Given the description of an element on the screen output the (x, y) to click on. 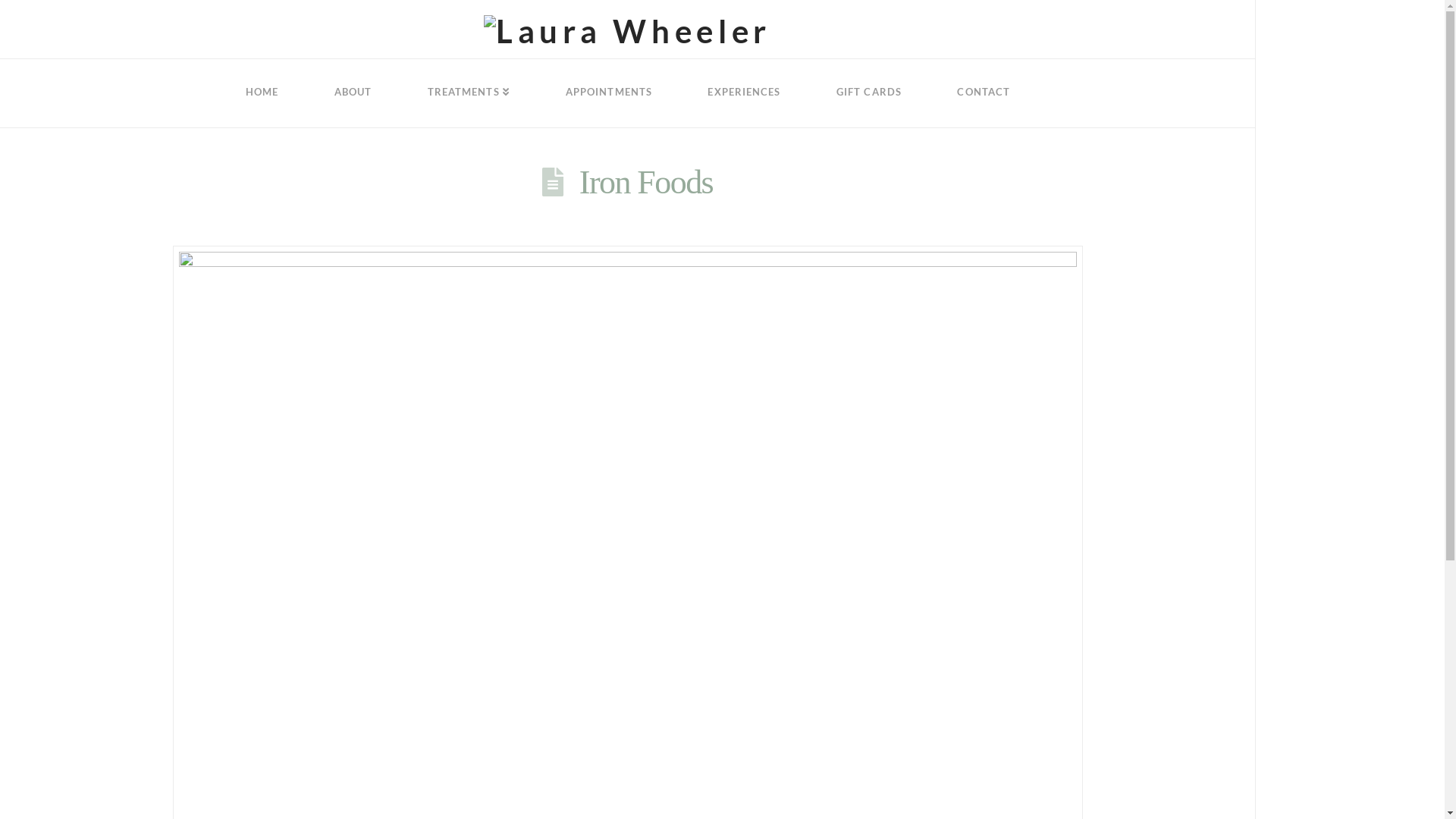
Iron Foods Element type: text (645, 181)
EXPERIENCES Element type: text (743, 93)
HOME Element type: text (261, 93)
CONTACT Element type: text (982, 93)
APPOINTMENTS Element type: text (608, 93)
GIFT CARDS Element type: text (868, 93)
ABOUT Element type: text (351, 93)
TREATMENTS Element type: text (467, 93)
